Given the description of an element on the screen output the (x, y) to click on. 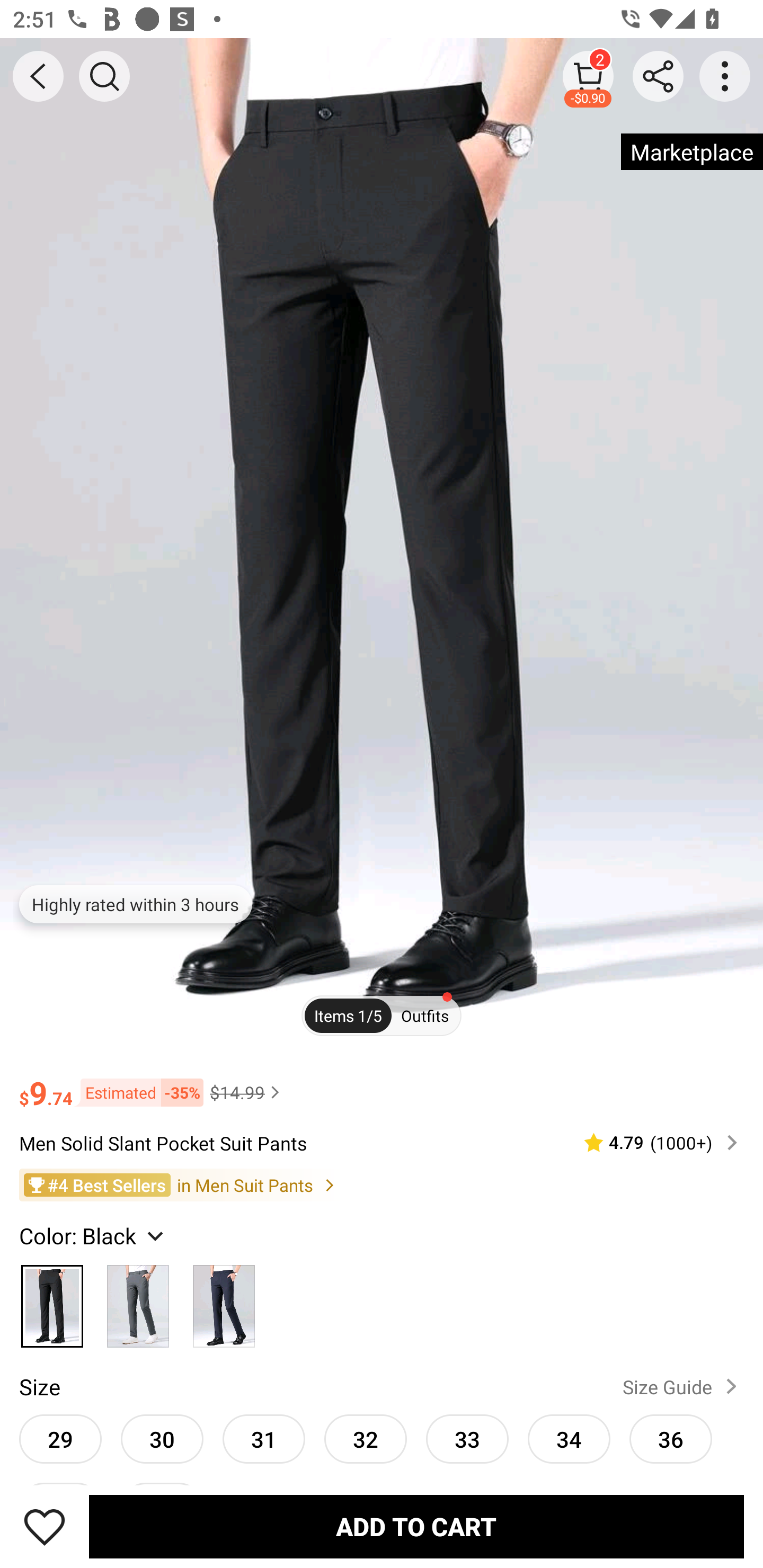
BACK (38, 75)
2 -$0.90 (588, 75)
Items 1/5 (347, 1015)
Outfits (424, 1015)
$9.74 Estimated -35% $14.99 (381, 1084)
Estimated -35% (137, 1092)
$14.99 (246, 1091)
4.79 (1000‎+) (653, 1142)
#4 Best Sellers in Men Suit Pants (381, 1184)
Color: Black (93, 1235)
Black (52, 1301)
Grey (138, 1301)
Navy Blue (224, 1301)
Size (39, 1386)
Size Guide (682, 1386)
29 29unselected option (60, 1438)
30 30unselected option (161, 1438)
31 31unselected option (263, 1438)
32 32unselected option (365, 1438)
33 33unselected option (466, 1438)
34 34unselected option (568, 1438)
36 36unselected option (670, 1438)
ADD TO CART (416, 1526)
Save (44, 1526)
